Given the description of an element on the screen output the (x, y) to click on. 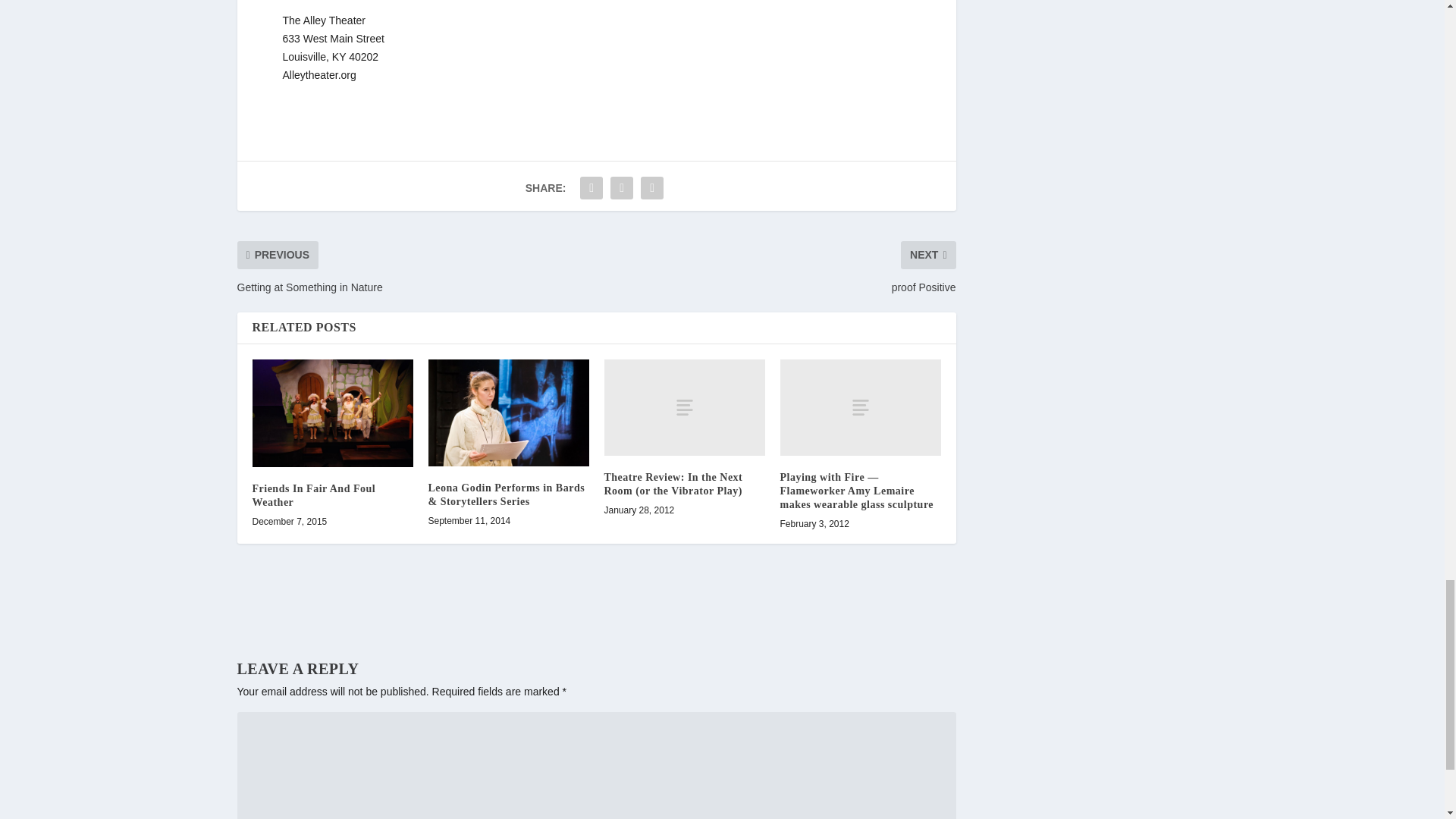
Share "Sometimes We All Feel Like Joseph K" via Email (651, 187)
Friends In Fair And Foul Weather (331, 412)
Share "Sometimes We All Feel Like Joseph K" via Twitter (622, 187)
Share "Sometimes We All Feel Like Joseph K" via Facebook (591, 187)
